Given the description of an element on the screen output the (x, y) to click on. 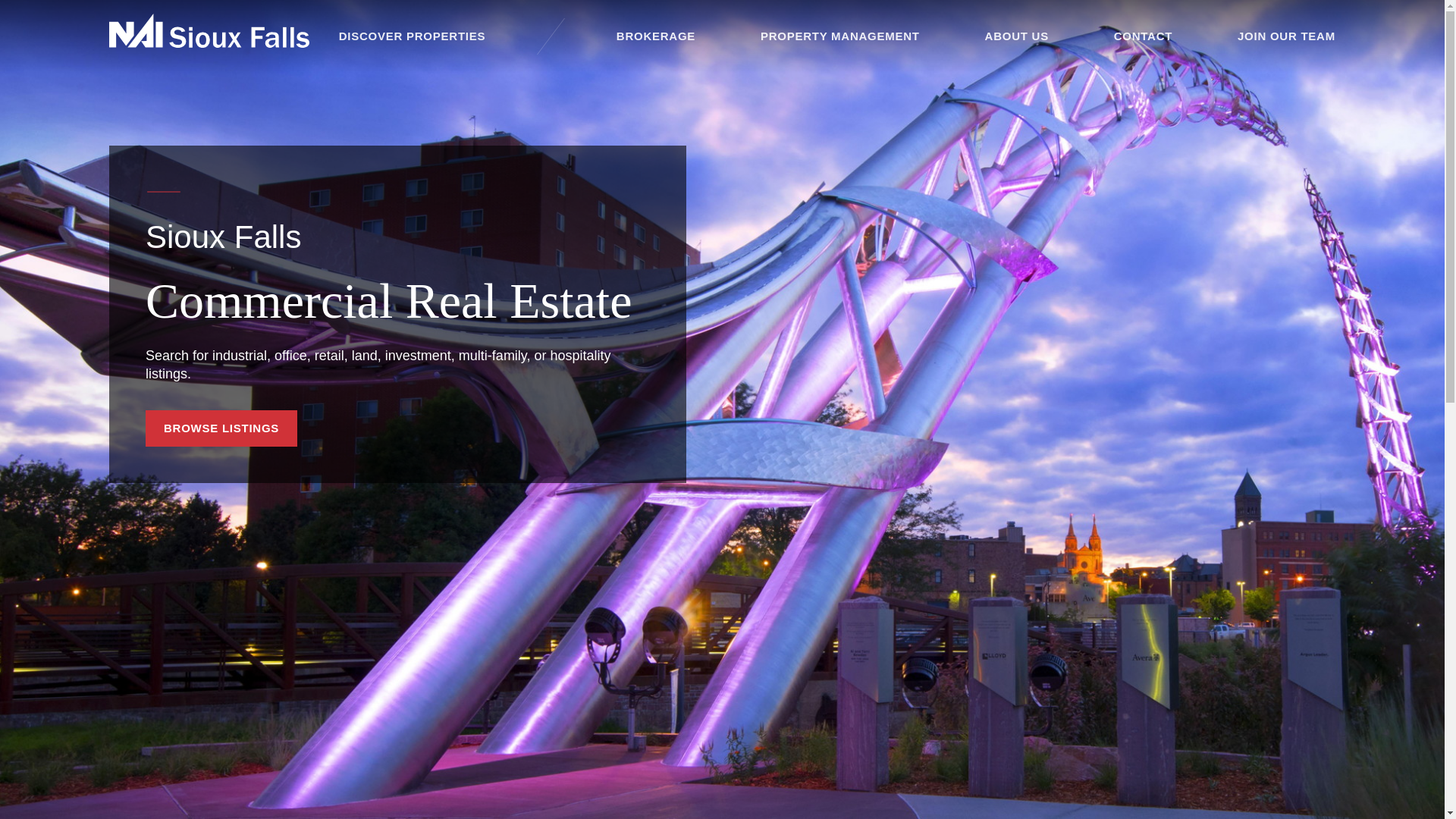
JOIN OUR TEAM (1286, 36)
BROKERAGE (655, 36)
DISCOVER PROPERTIES (411, 36)
BROWSE LISTINGS (221, 428)
PROPERTY MANAGEMENT (840, 36)
